Given the description of an element on the screen output the (x, y) to click on. 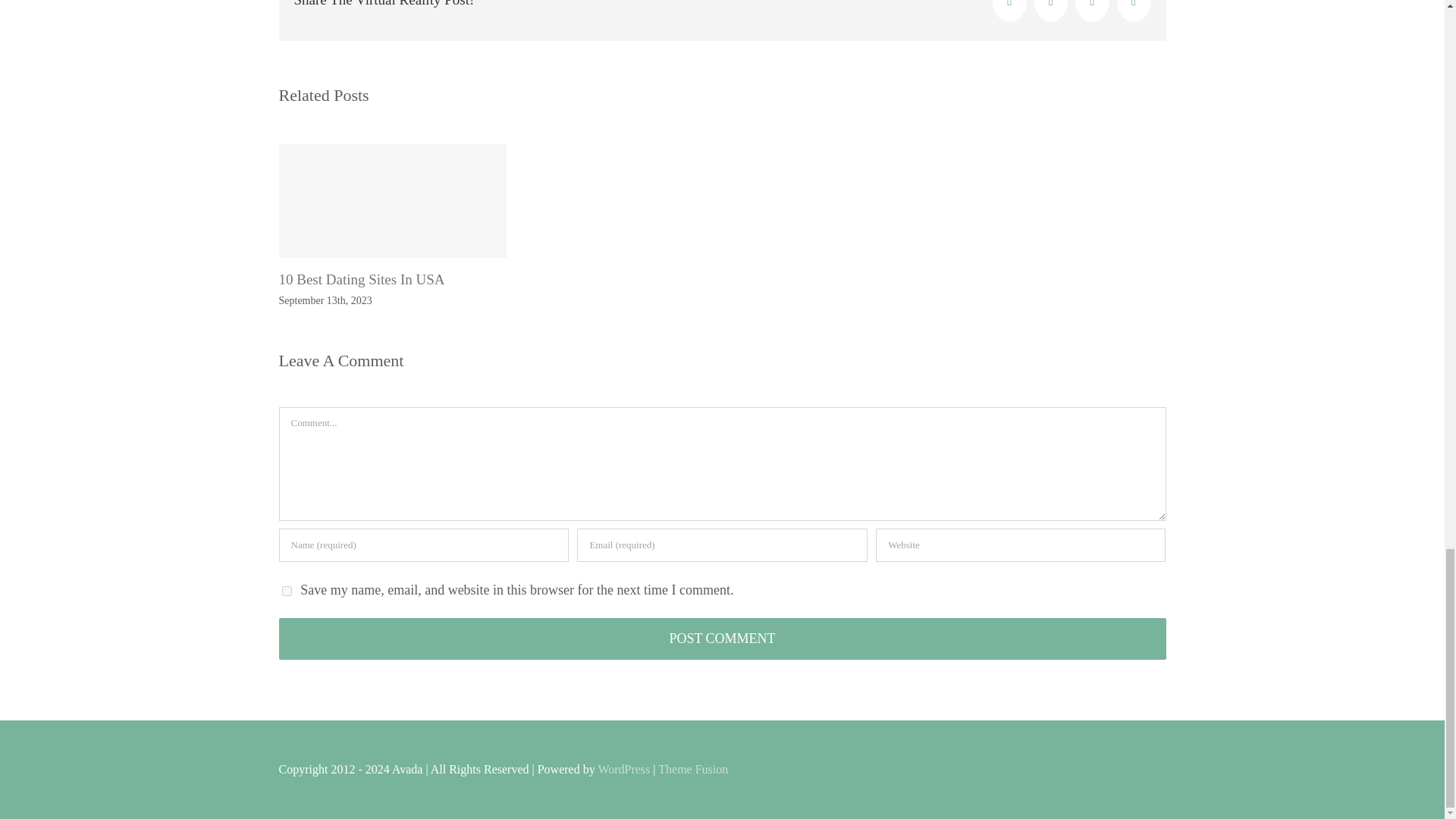
Post Comment (722, 639)
10 Best Dating Sites In USA (362, 279)
Post Comment (722, 639)
Twitter (1050, 11)
WordPress (622, 768)
Facebook (1009, 11)
Theme Fusion (693, 768)
LinkedIn (1092, 11)
10 Best Dating Sites In USA (362, 279)
Email (1133, 11)
